Given the description of an element on the screen output the (x, y) to click on. 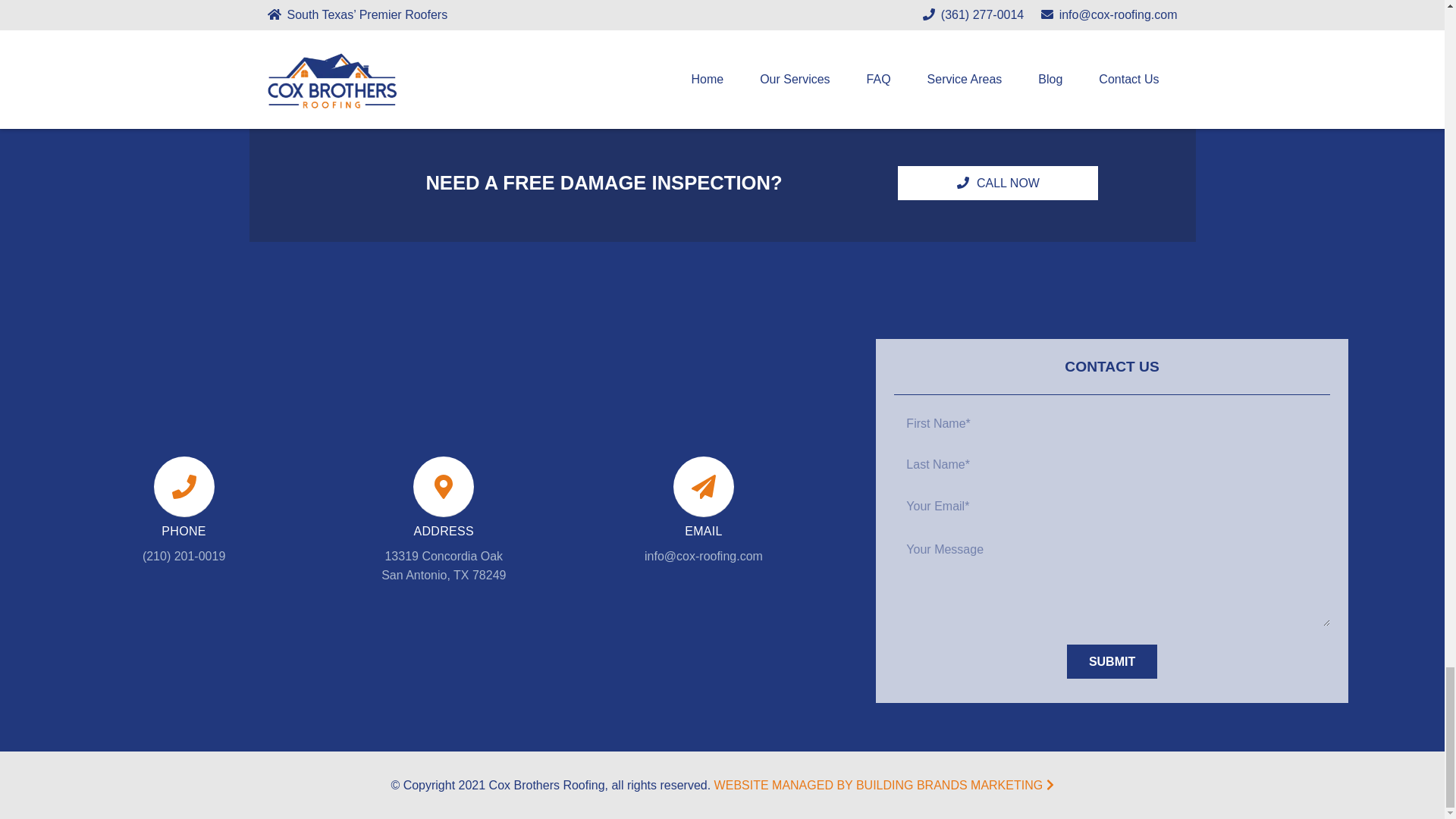
SUBMIT (1112, 661)
